Given the description of an element on the screen output the (x, y) to click on. 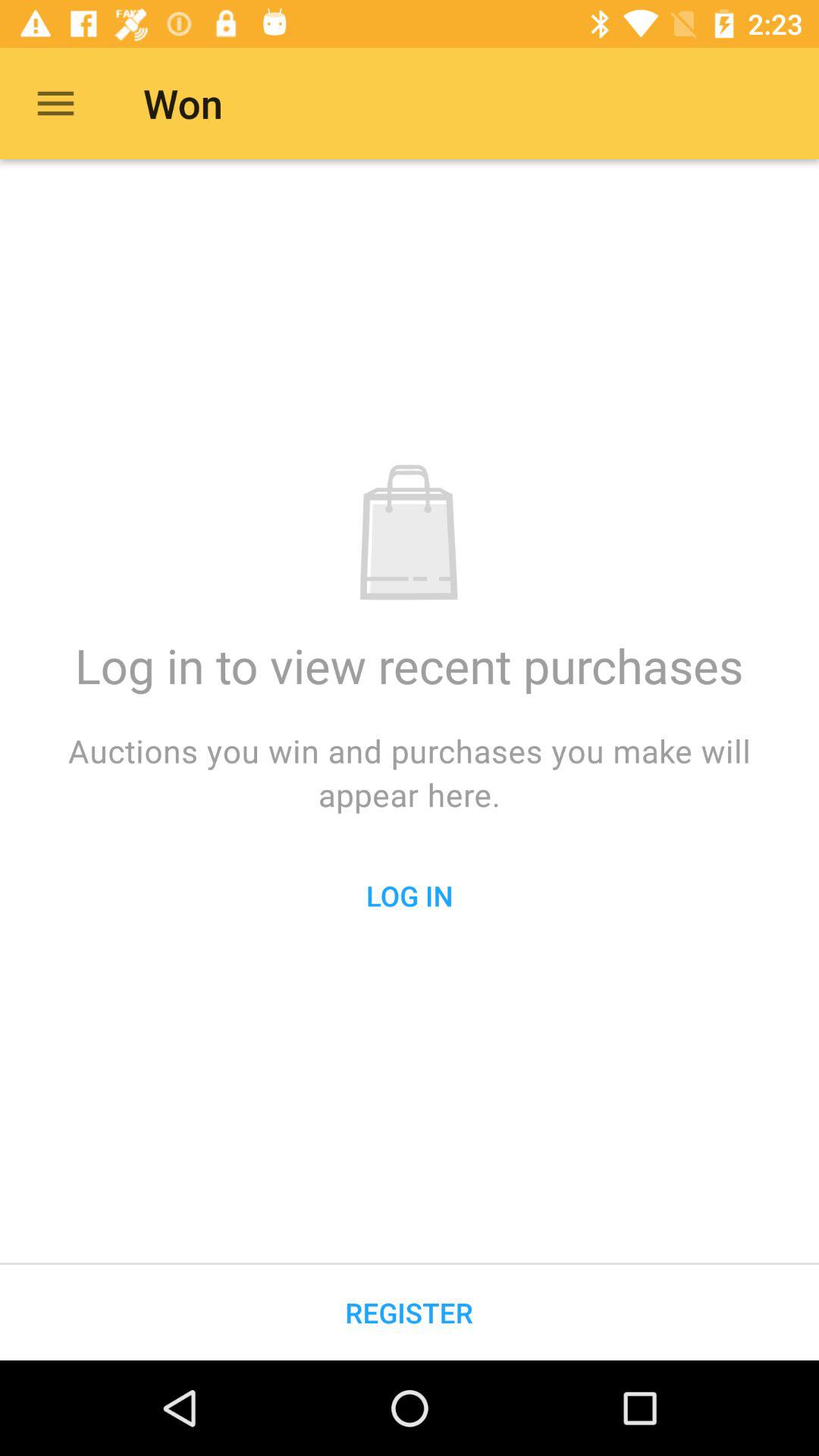
launch the icon next to won (55, 103)
